Given the description of an element on the screen output the (x, y) to click on. 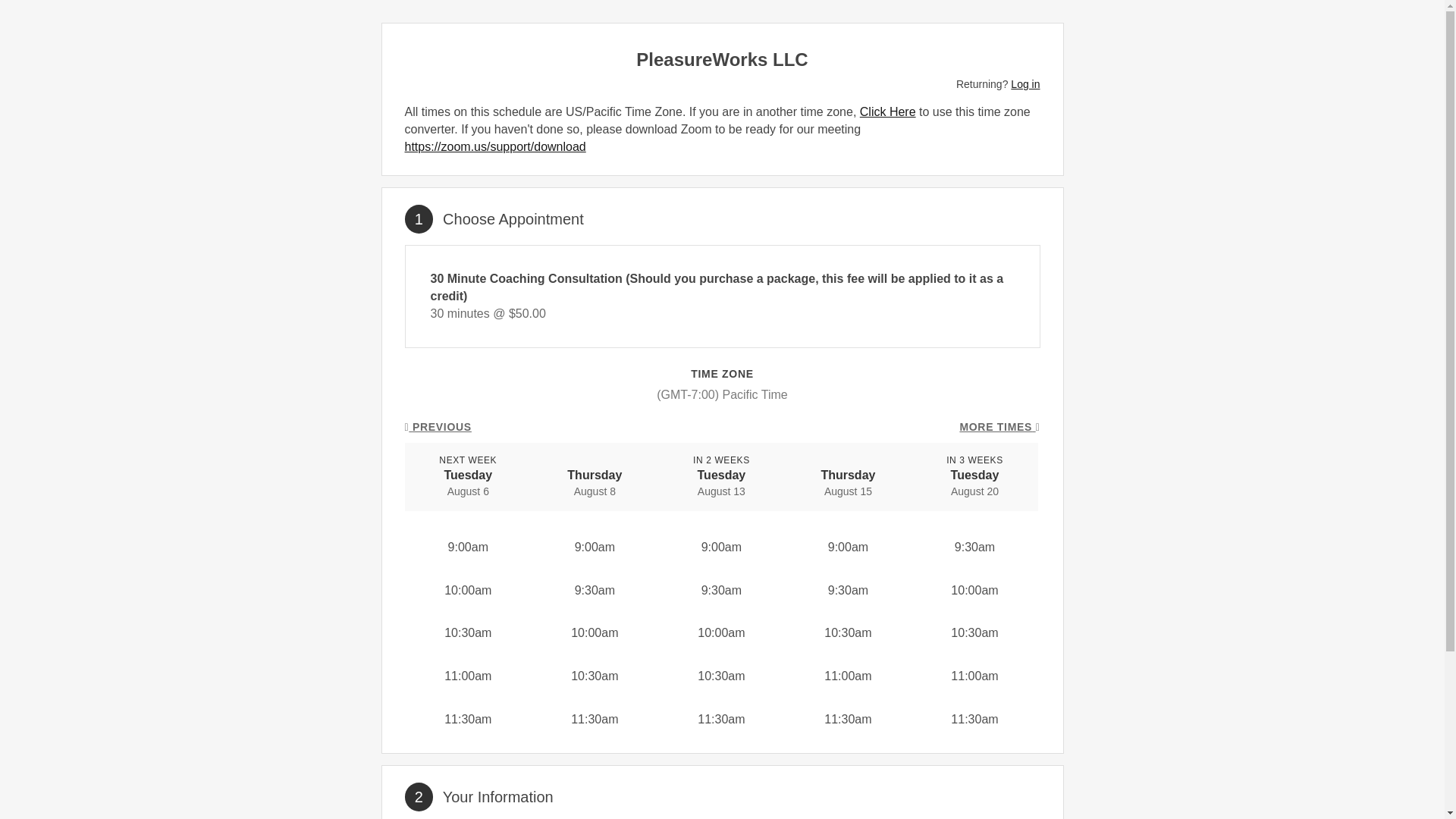
MORE TIMES (999, 427)
Choose Appointment (512, 218)
PREVIOUS (437, 427)
Click Here (887, 111)
Log in (1024, 83)
